Given the description of an element on the screen output the (x, y) to click on. 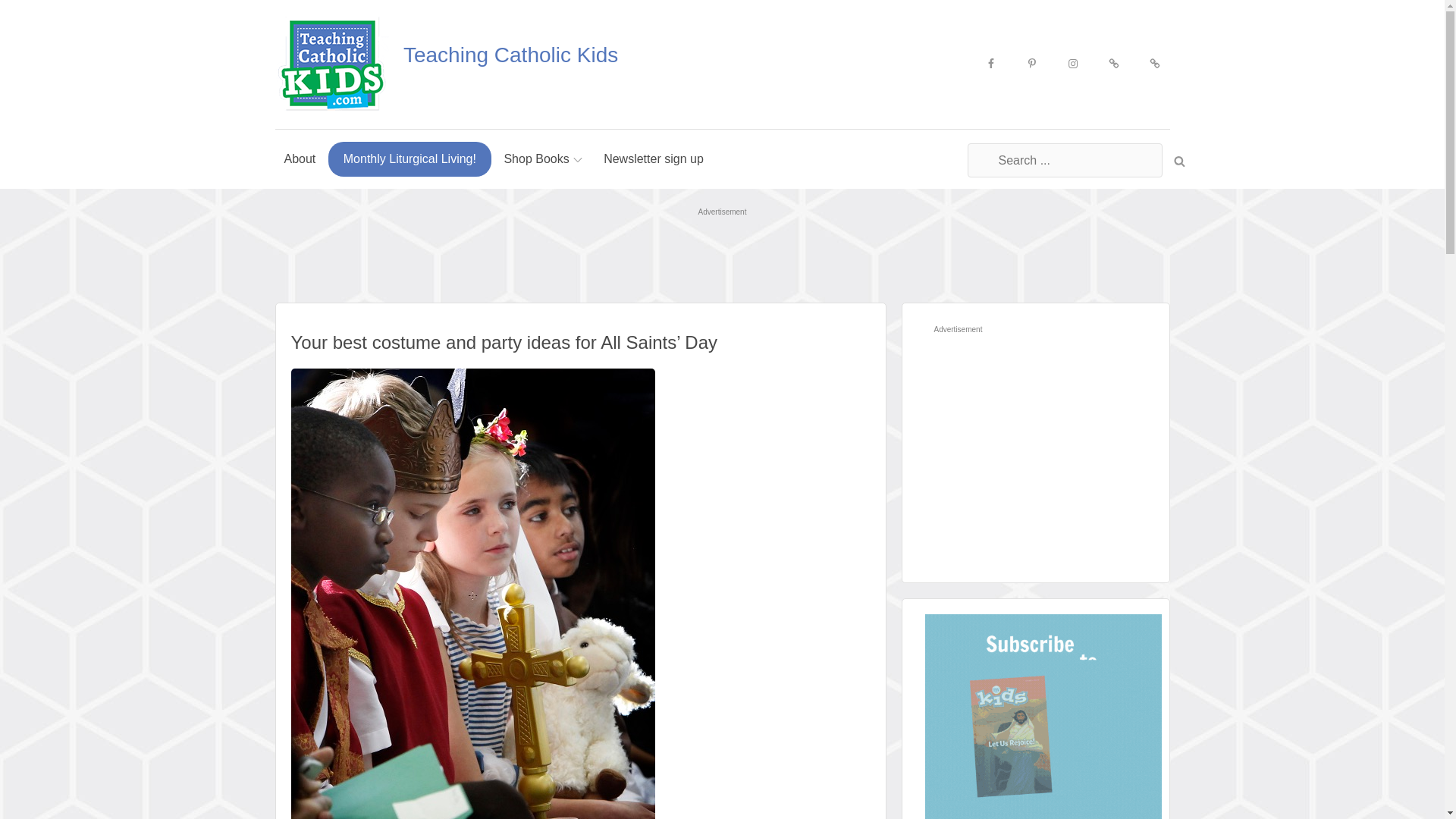
Search (1178, 159)
Search for: (1064, 160)
Monthly Liturgical Living! (410, 158)
3rd party ad content (1030, 434)
Newsletter sign up (653, 159)
Teaching Catholic Kids (510, 54)
Pinterest (1031, 64)
3rd party ad content (721, 255)
Instagram (1072, 64)
Shop Books (543, 159)
Facebook (990, 64)
OSV Kids Activities (1112, 64)
